Given the description of an element on the screen output the (x, y) to click on. 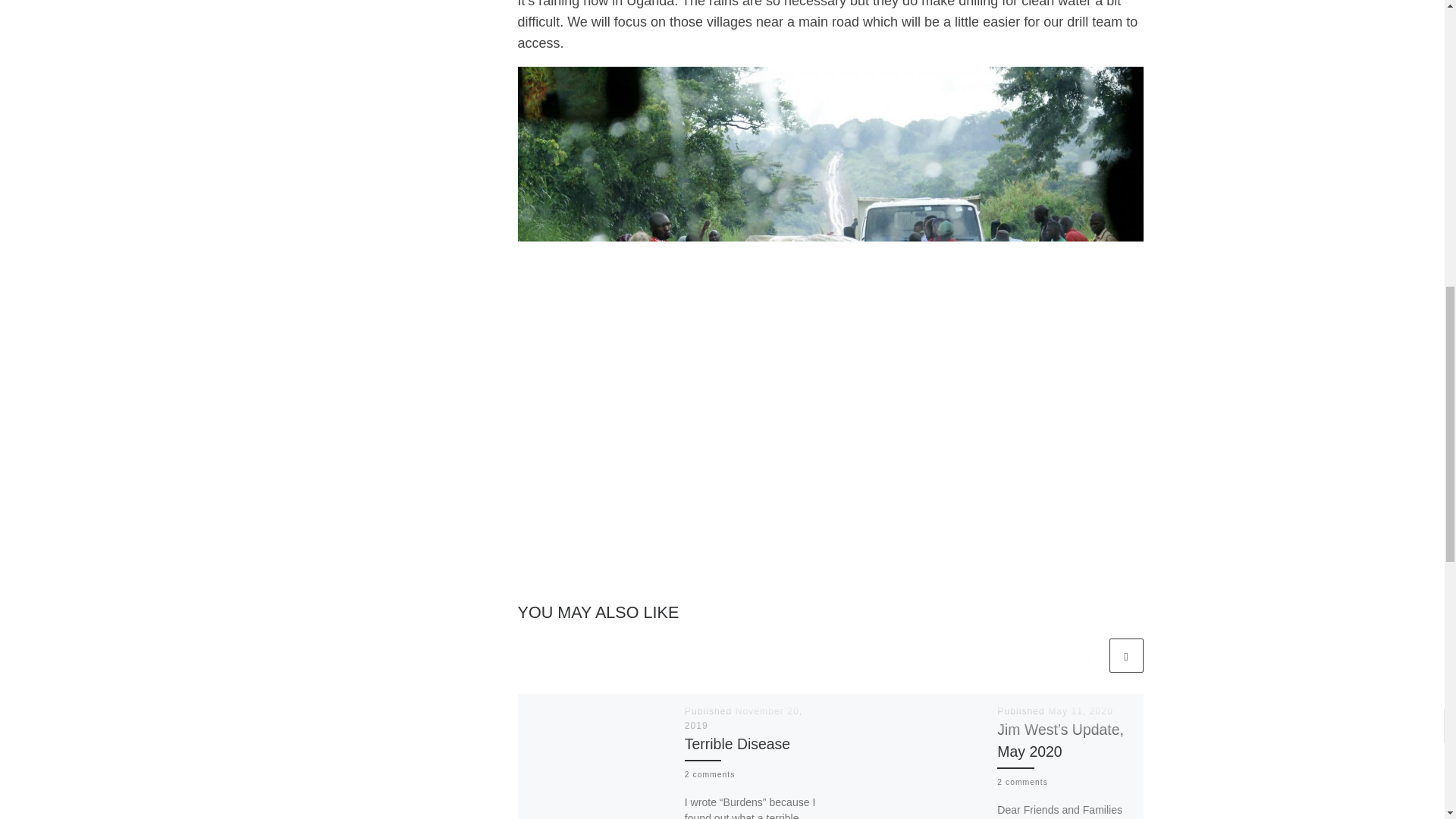
Previous related articles (1088, 655)
2 Comments on Terrible Disease (709, 774)
Next related articles (1125, 655)
